Given the description of an element on the screen output the (x, y) to click on. 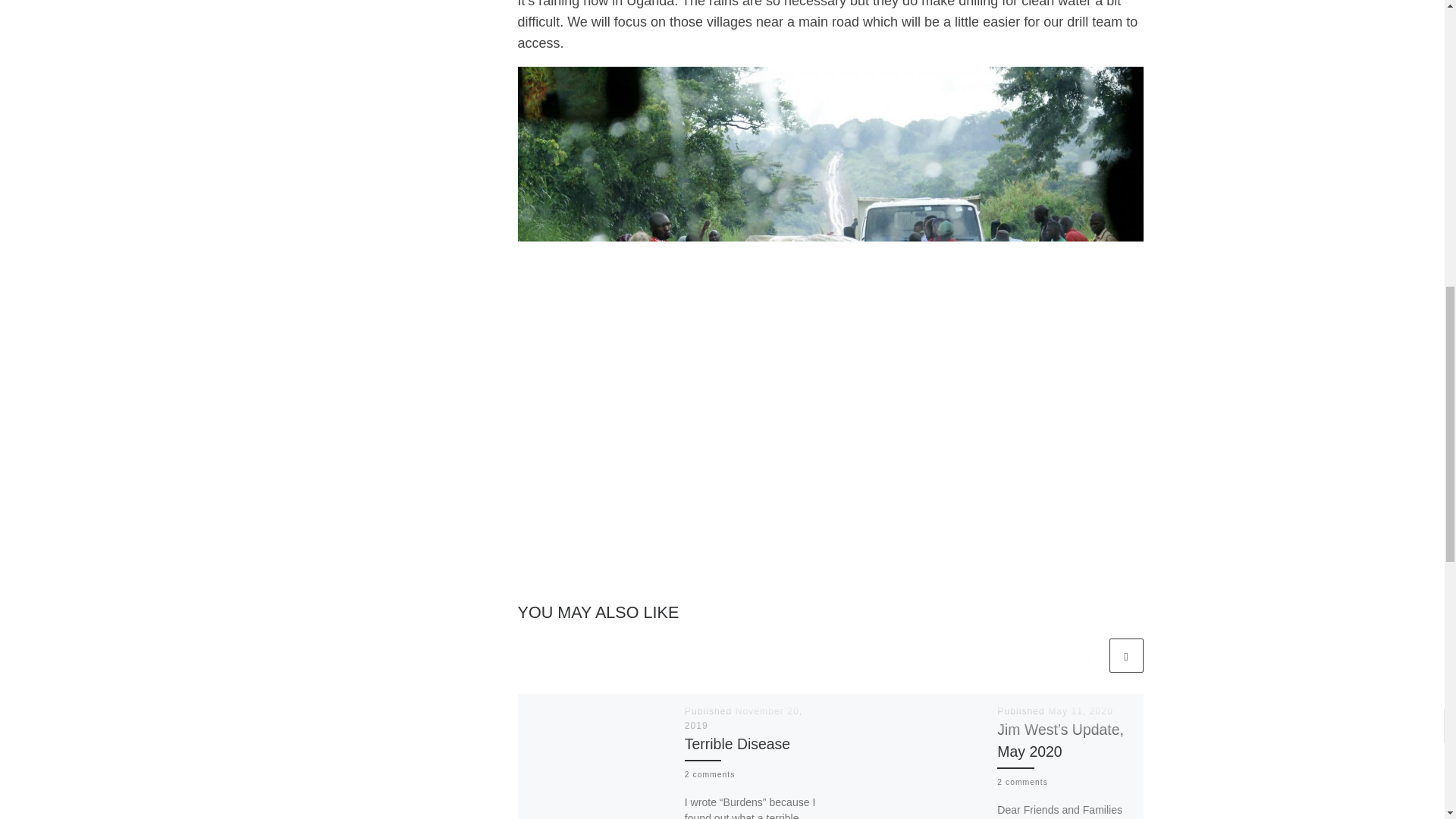
Previous related articles (1088, 655)
2 Comments on Terrible Disease (709, 774)
Next related articles (1125, 655)
